Given the description of an element on the screen output the (x, y) to click on. 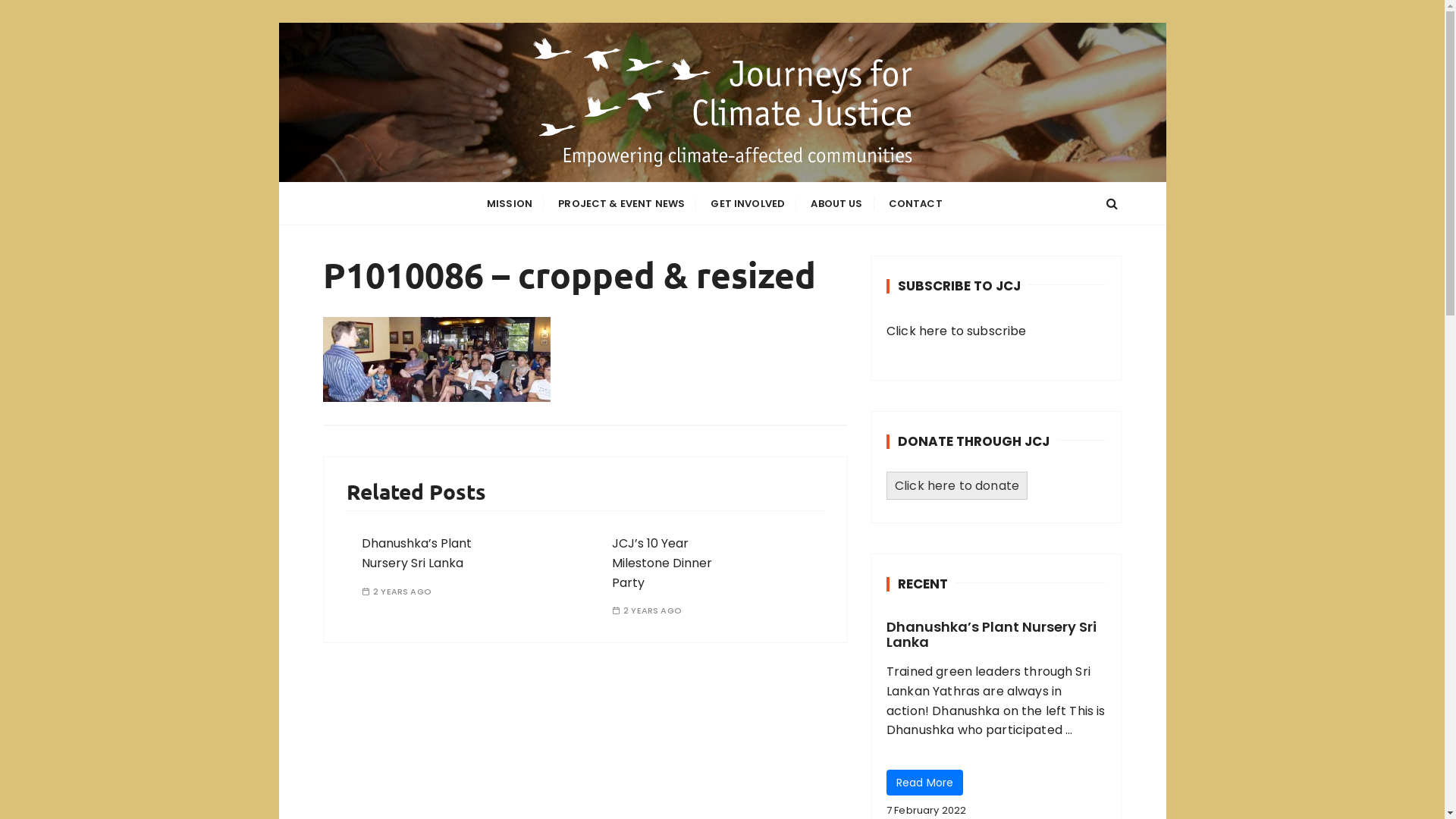
CONTACT Element type: text (915, 203)
Click here to donate Element type: text (956, 485)
Click here to subscribe Element type: text (956, 330)
MISSION Element type: text (509, 203)
ABOUT US Element type: text (836, 203)
GET INVOLVED Element type: text (747, 203)
Journeys for Climate Justice Element type: text (592, 192)
Skip to content Element type: text (277, 21)
Read More Element type: text (924, 782)
PROJECT & EVENT NEWS Element type: text (621, 203)
